Given the description of an element on the screen output the (x, y) to click on. 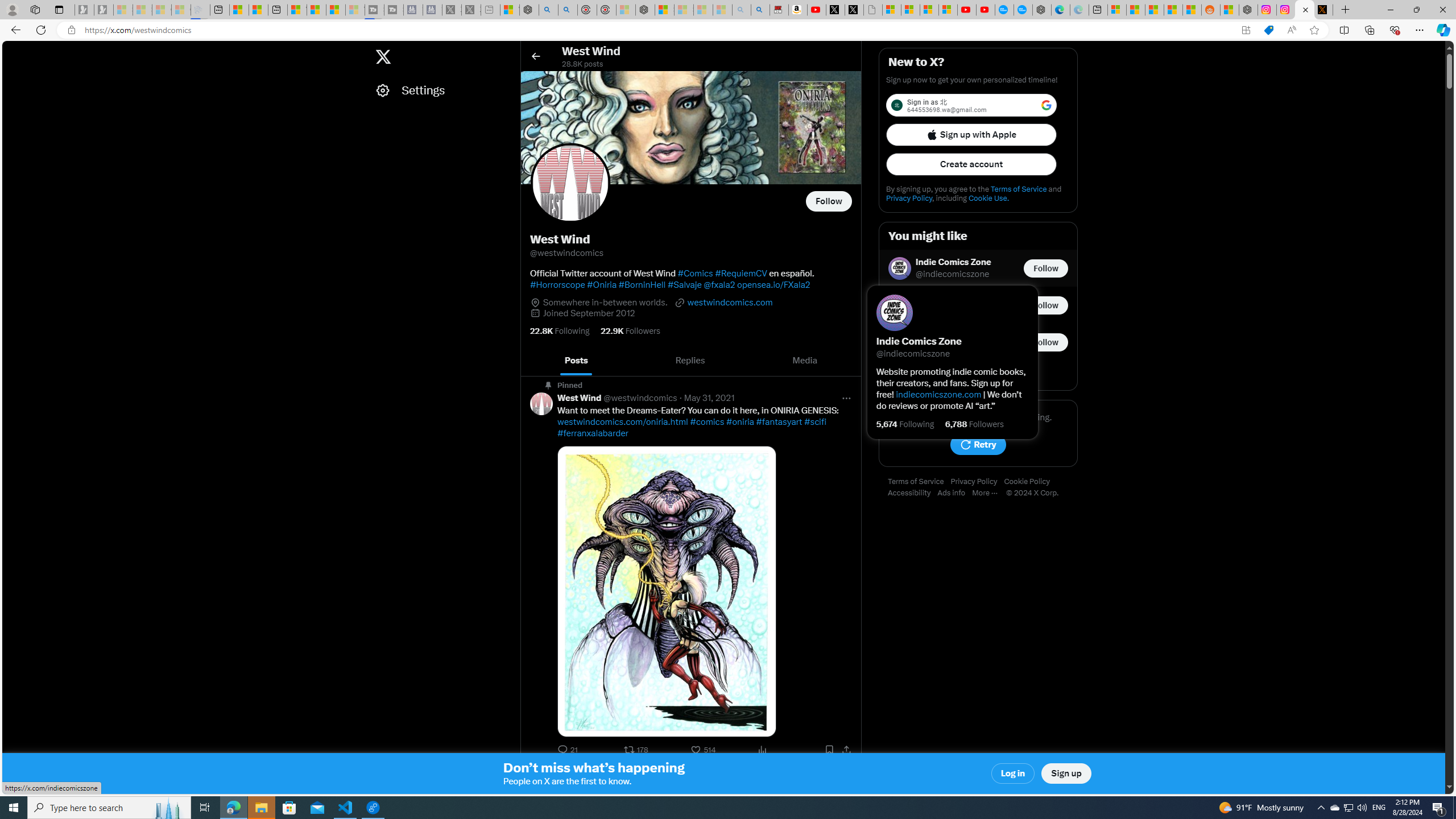
Shopping in Microsoft Edge (1268, 29)
@indiecomicszone (952, 274)
Privacy Policy (977, 481)
amazon - Search - Sleeping (741, 9)
Create account (971, 164)
Posts (576, 360)
Amazon Echo Dot PNG - Search Images (759, 9)
#fantasyart (778, 421)
